Given the description of an element on the screen output the (x, y) to click on. 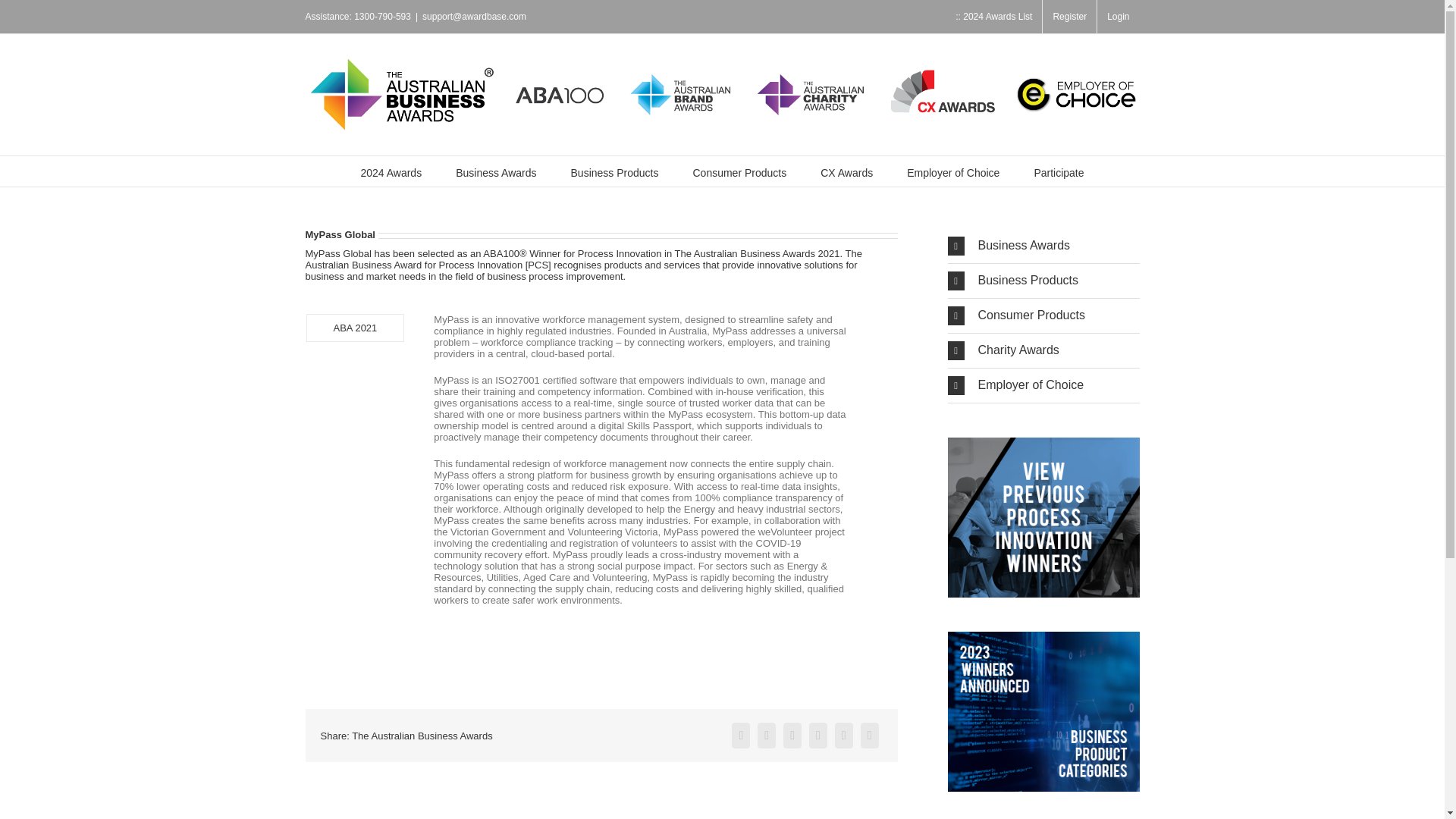
Consumer Products (739, 171)
Register (1069, 16)
CX Awards (846, 171)
2024 Awards (390, 171)
Business Awards (495, 171)
:: 2024 Awards List (993, 16)
Business Products (614, 171)
Login (1117, 16)
